Given the description of an element on the screen output the (x, y) to click on. 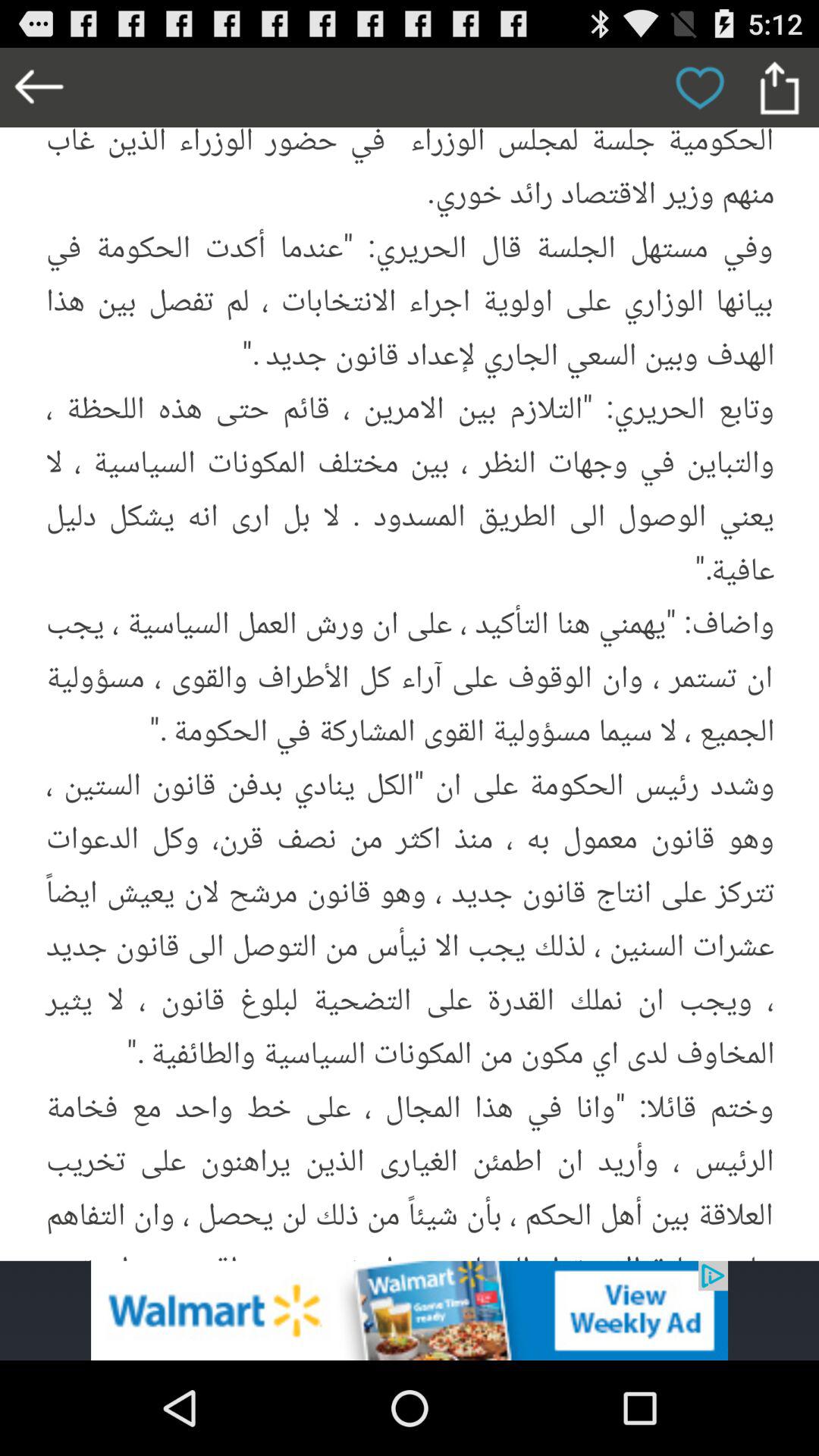
love this entry (699, 87)
